Given the description of an element on the screen output the (x, y) to click on. 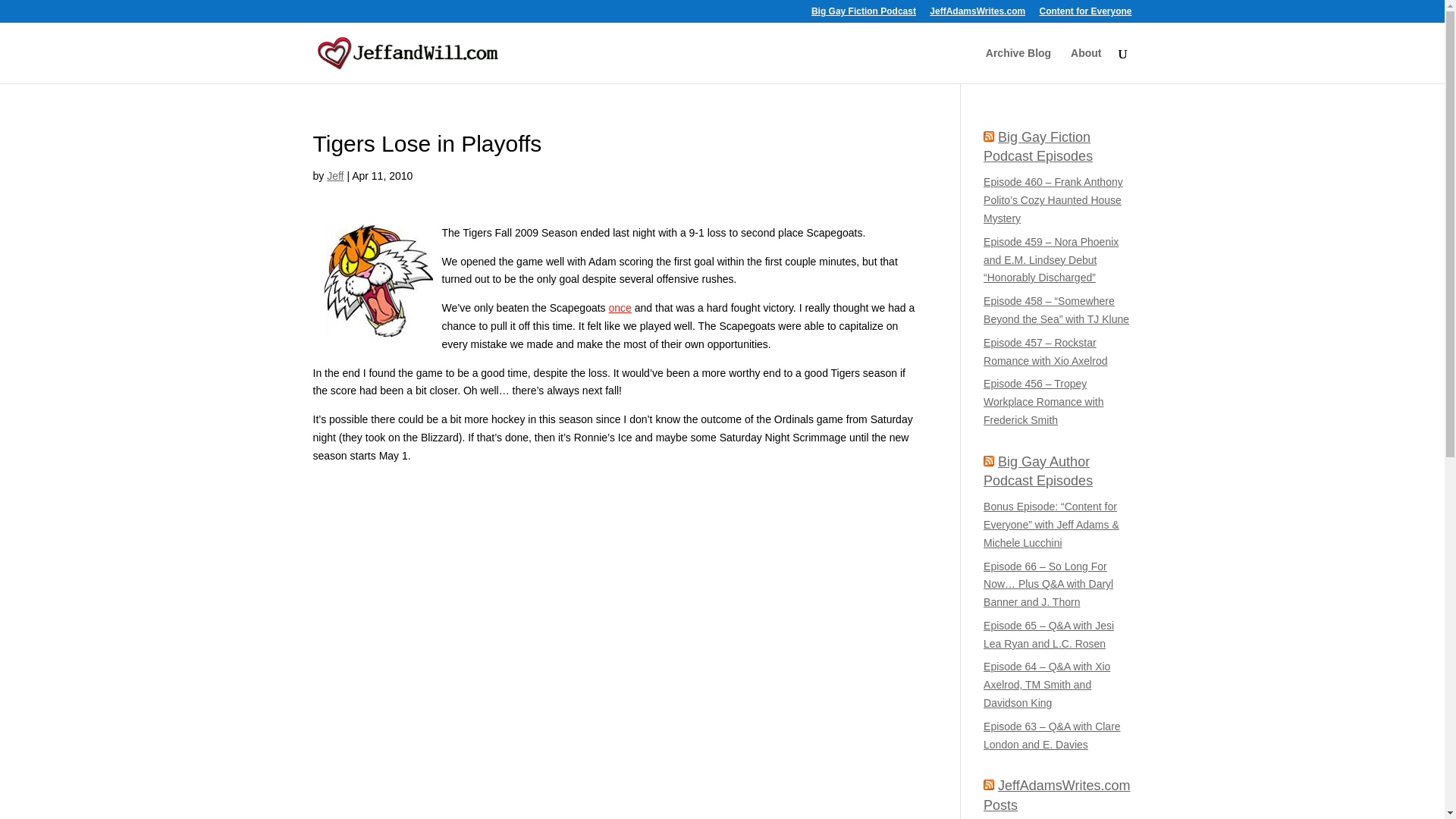
Big Gay Fiction Podcast Episodes (1038, 146)
Big Gay Author Podcast Episodes (1038, 471)
Big Gay Fiction Podcast (862, 14)
JeffAdamsWrites.com Posts (1056, 795)
JeffAdamsWrites.com (977, 14)
Archive Blog (1018, 65)
Content for Everyone (1085, 14)
Jeff (334, 175)
once (619, 307)
